Given the description of an element on the screen output the (x, y) to click on. 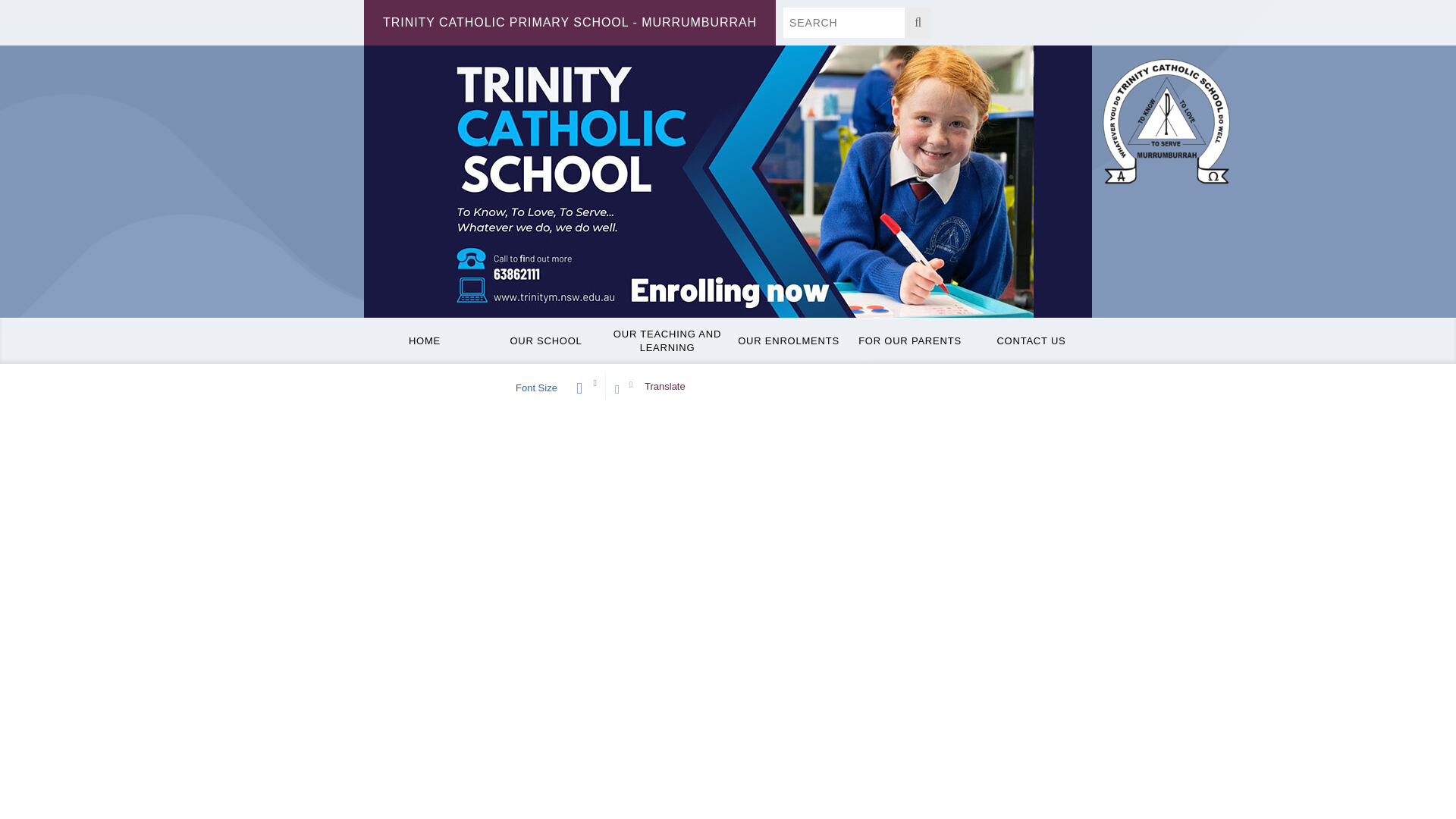
OUR SCHOOL (545, 340)
TRINITY CATHOLIC PRIMARY SCHOOL - MURRUMBURRAH (570, 22)
Our Teaching and Learning (667, 340)
HOME (424, 340)
FOR OUR PARENTS (909, 340)
OUR TEACHING AND LEARNING (667, 340)
OUR ENROLMENTS (788, 340)
Our School (545, 340)
Home (424, 340)
Search (843, 22)
